Given the description of an element on the screen output the (x, y) to click on. 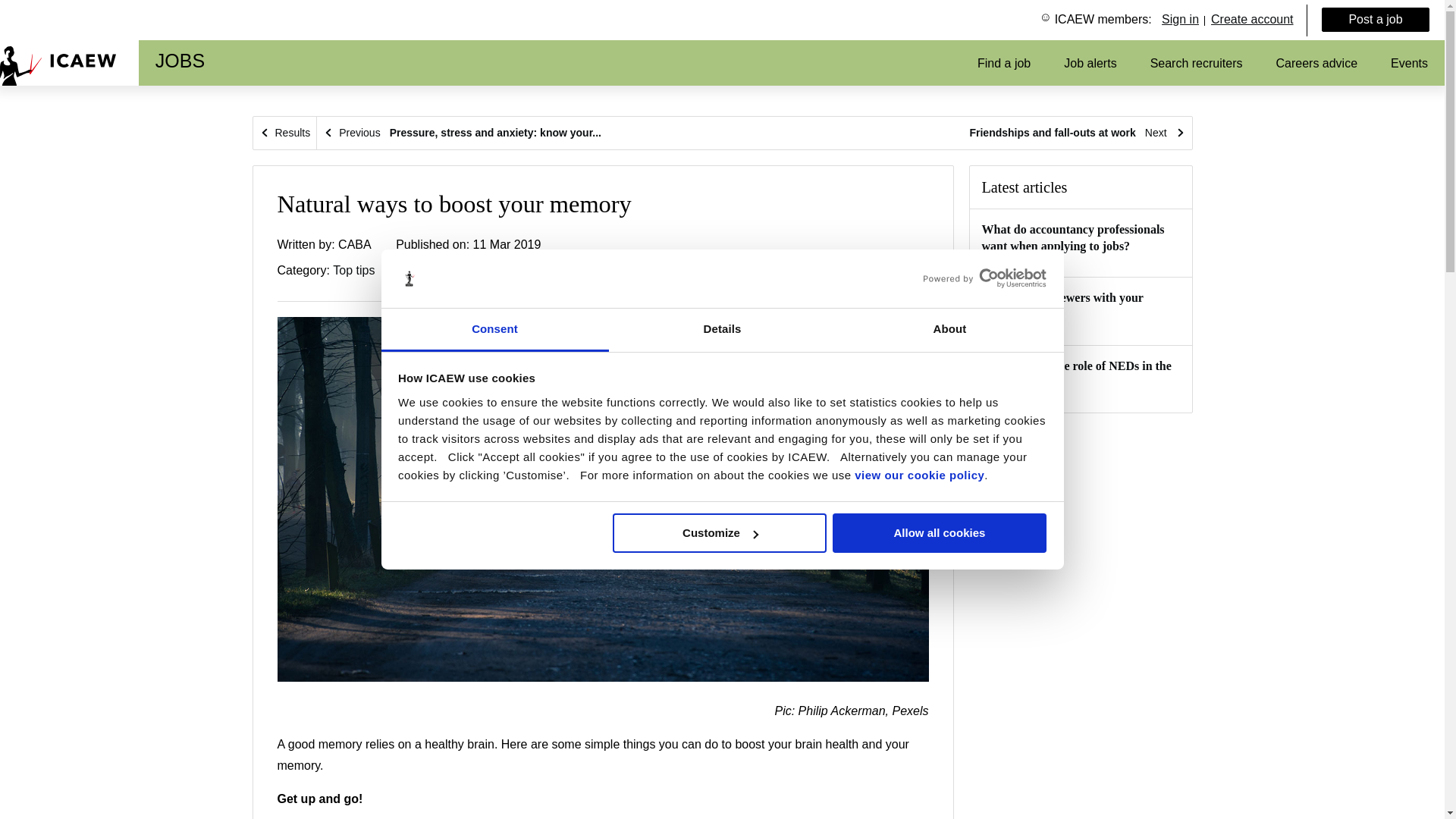
Cookie Policy (919, 474)
view our cookie policy (919, 474)
Consent (494, 330)
About (948, 330)
Details (721, 330)
